Given the description of an element on the screen output the (x, y) to click on. 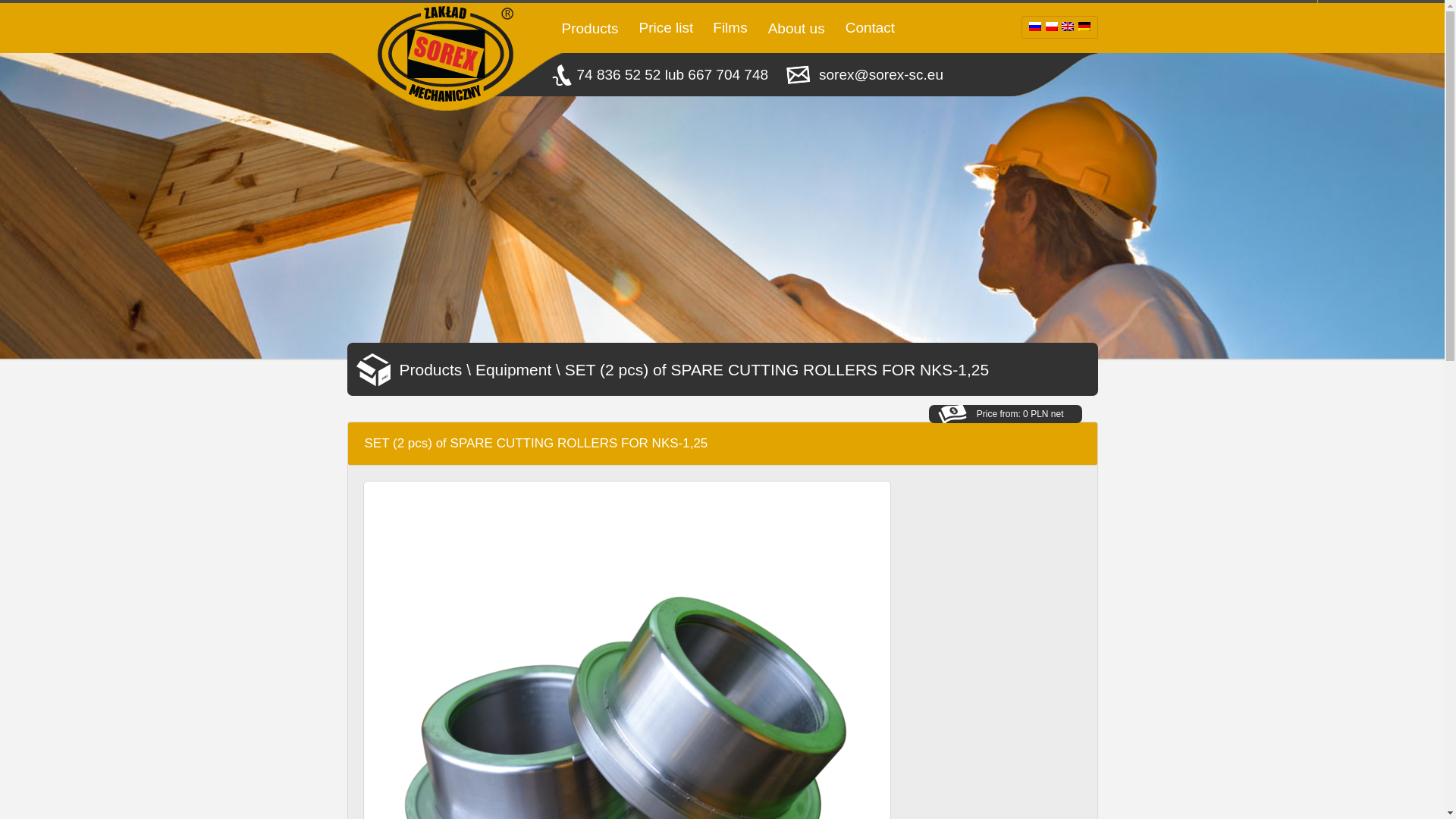
Products (590, 28)
Contact (870, 27)
Price list (665, 27)
Back to the home page (444, 58)
About us (796, 28)
Films (729, 27)
